Given the description of an element on the screen output the (x, y) to click on. 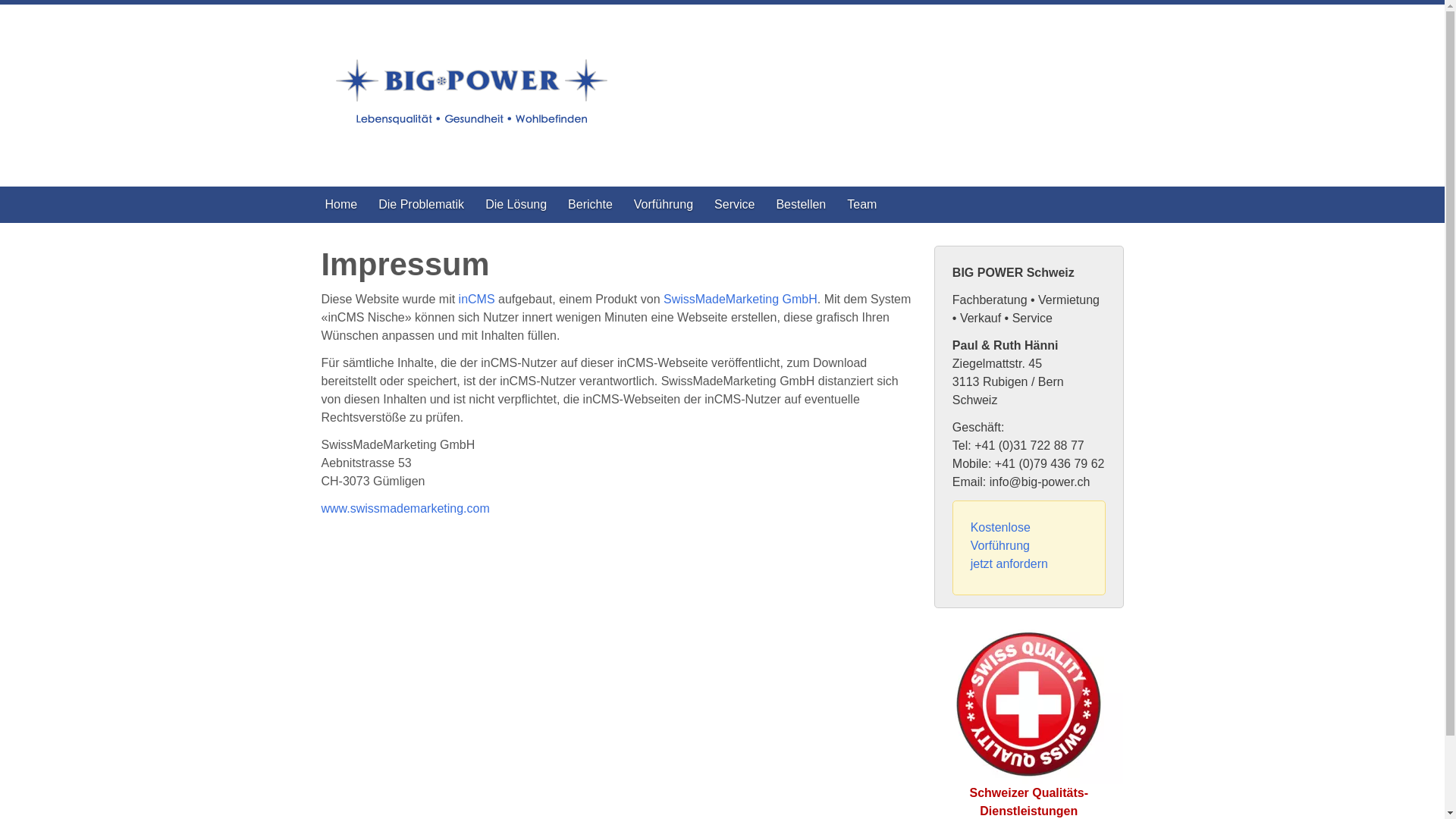
Team Element type: text (861, 204)
Service Element type: text (734, 204)
Bestellen Element type: text (800, 204)
inCMS Element type: text (476, 298)
SwissMadeMarketing GmbH Element type: text (740, 298)
www.swissmademarketing.com Element type: text (405, 508)
Home Element type: text (340, 204)
Die Problematik Element type: text (421, 204)
Berichte Element type: text (589, 204)
